Given the description of an element on the screen output the (x, y) to click on. 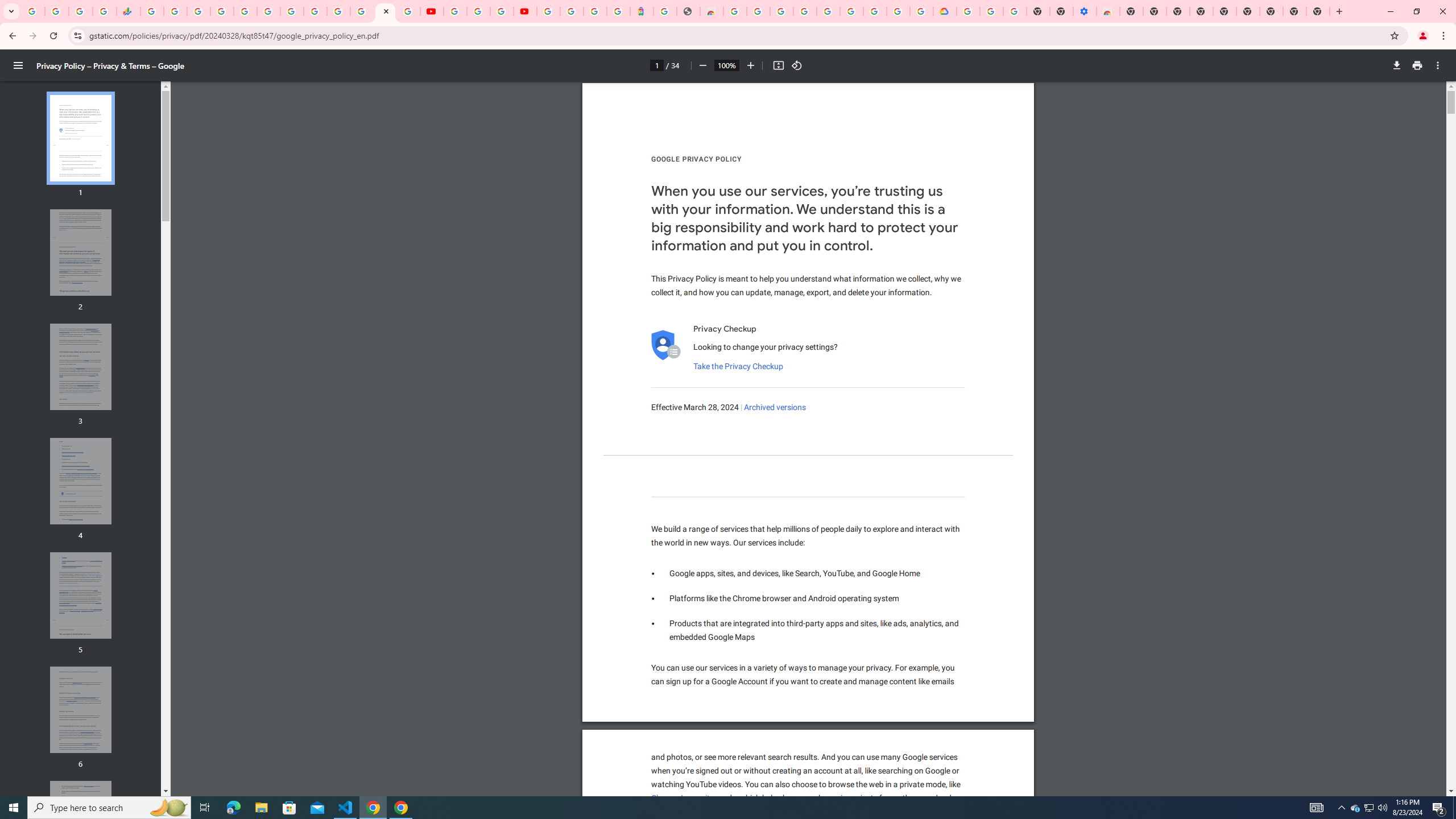
Sign in - Google Accounts (547, 11)
Address and search bar (735, 35)
Zoom level (726, 64)
